Given the description of an element on the screen output the (x, y) to click on. 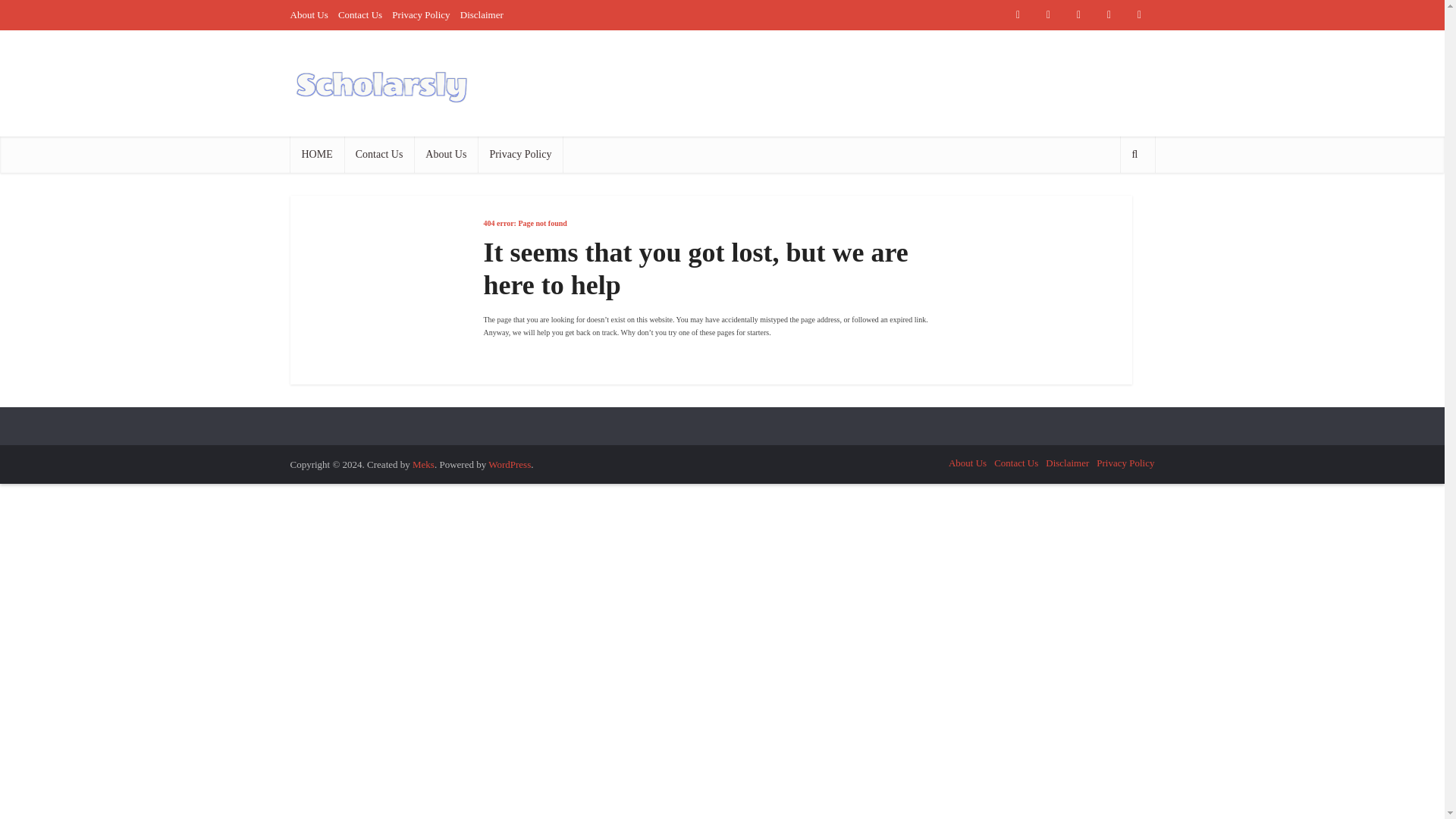
About Us (308, 14)
Meks (422, 464)
Privacy Policy (519, 154)
Privacy Policy (420, 14)
Privacy Policy (1125, 462)
About Us (968, 462)
Disclaimer (481, 14)
WordPress (509, 464)
Disclaimer (1067, 462)
Contact Us (1016, 462)
About Us (445, 154)
Contact Us (378, 154)
Contact Us (359, 14)
HOME (316, 154)
